Given the description of an element on the screen output the (x, y) to click on. 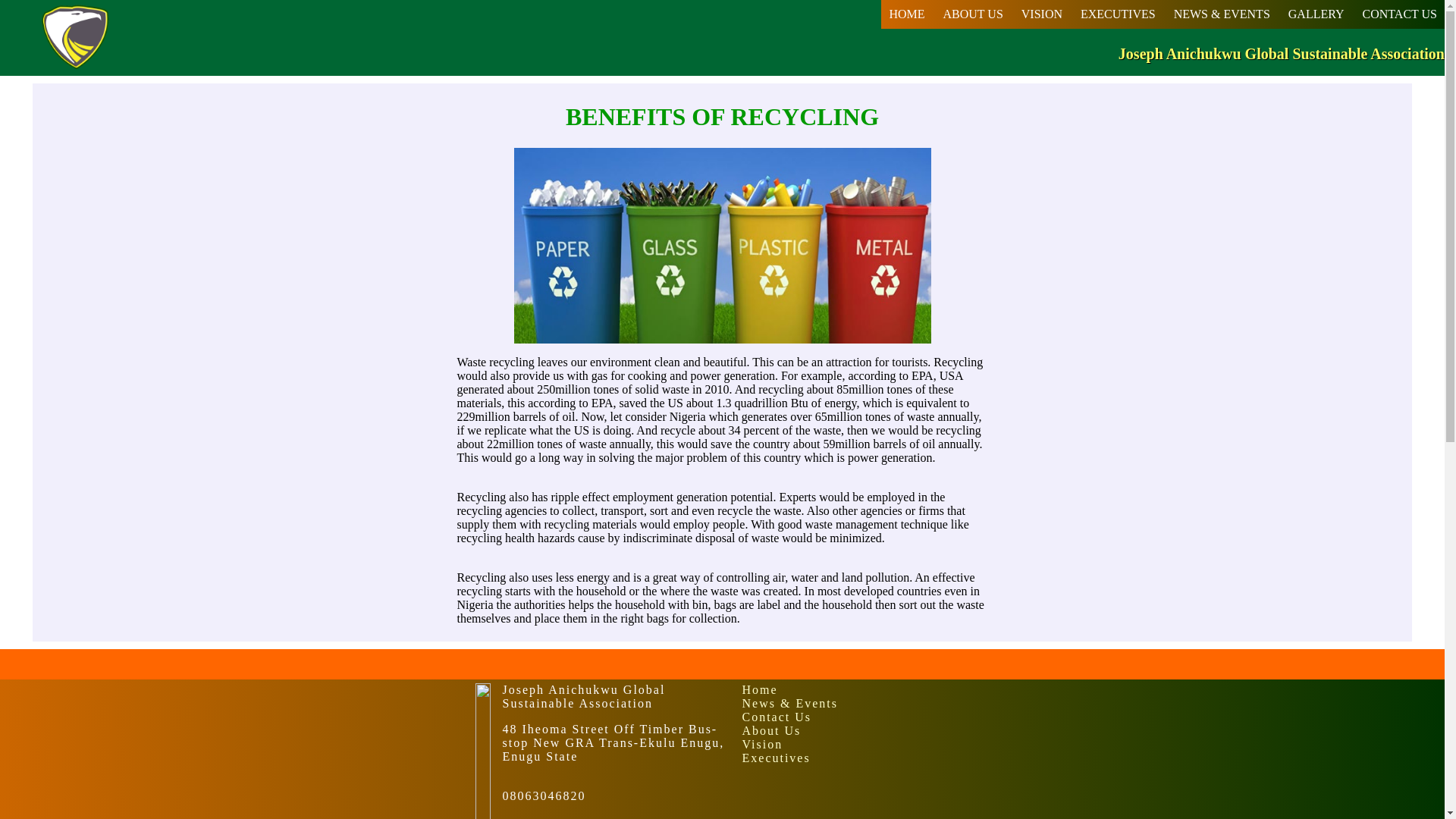
VISION (1041, 14)
About Us (855, 730)
Contact Us (855, 716)
HOME (905, 14)
EXECUTIVES (1118, 14)
Executives (855, 757)
ABOUT US (973, 14)
GALLERY (1316, 14)
Home (855, 689)
Vision (855, 744)
